Given the description of an element on the screen output the (x, y) to click on. 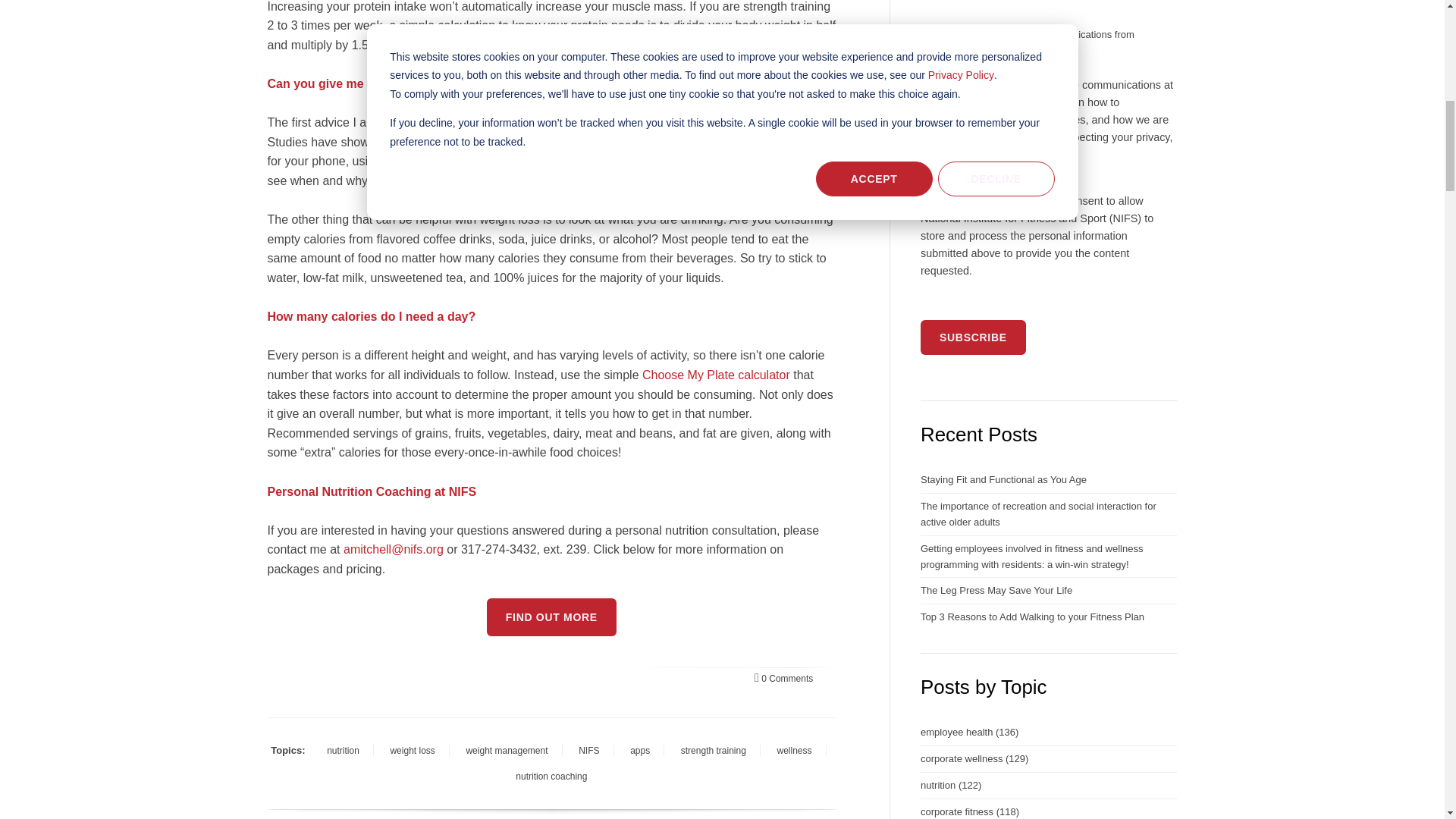
strength training (713, 750)
weight management (506, 750)
nutrition (342, 750)
Subscribe (973, 337)
true (925, 31)
0 Comments (783, 678)
FIND OUT MORE (550, 617)
NIFS (588, 750)
wellness (793, 750)
nutrition coaching (551, 776)
apps (640, 750)
weight loss (411, 750)
Choose My Plate calculator (716, 374)
Find Out More (550, 617)
apps (759, 141)
